Given the description of an element on the screen output the (x, y) to click on. 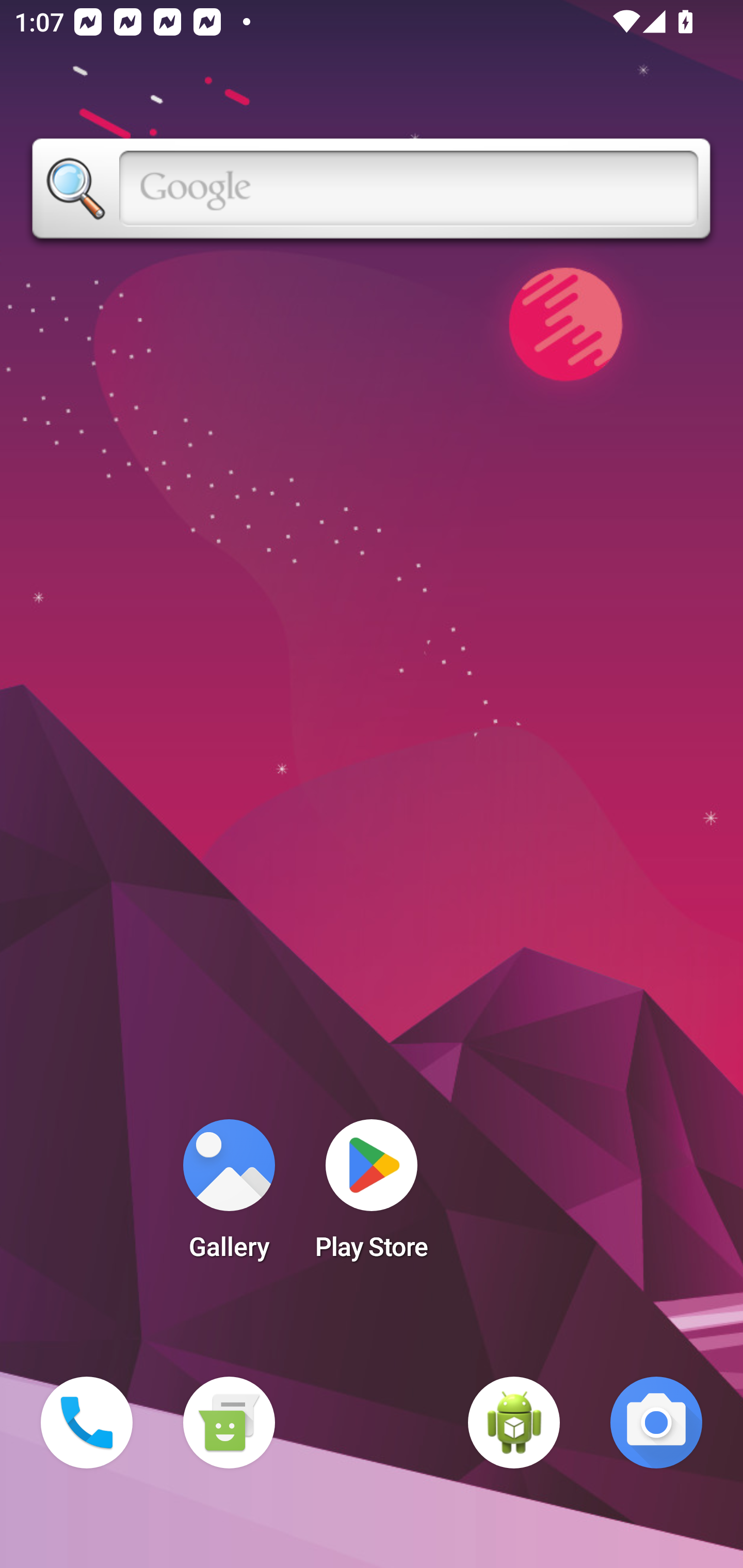
Gallery (228, 1195)
Play Store (371, 1195)
Phone (86, 1422)
Messaging (228, 1422)
WebView Browser Tester (513, 1422)
Camera (656, 1422)
